Given the description of an element on the screen output the (x, y) to click on. 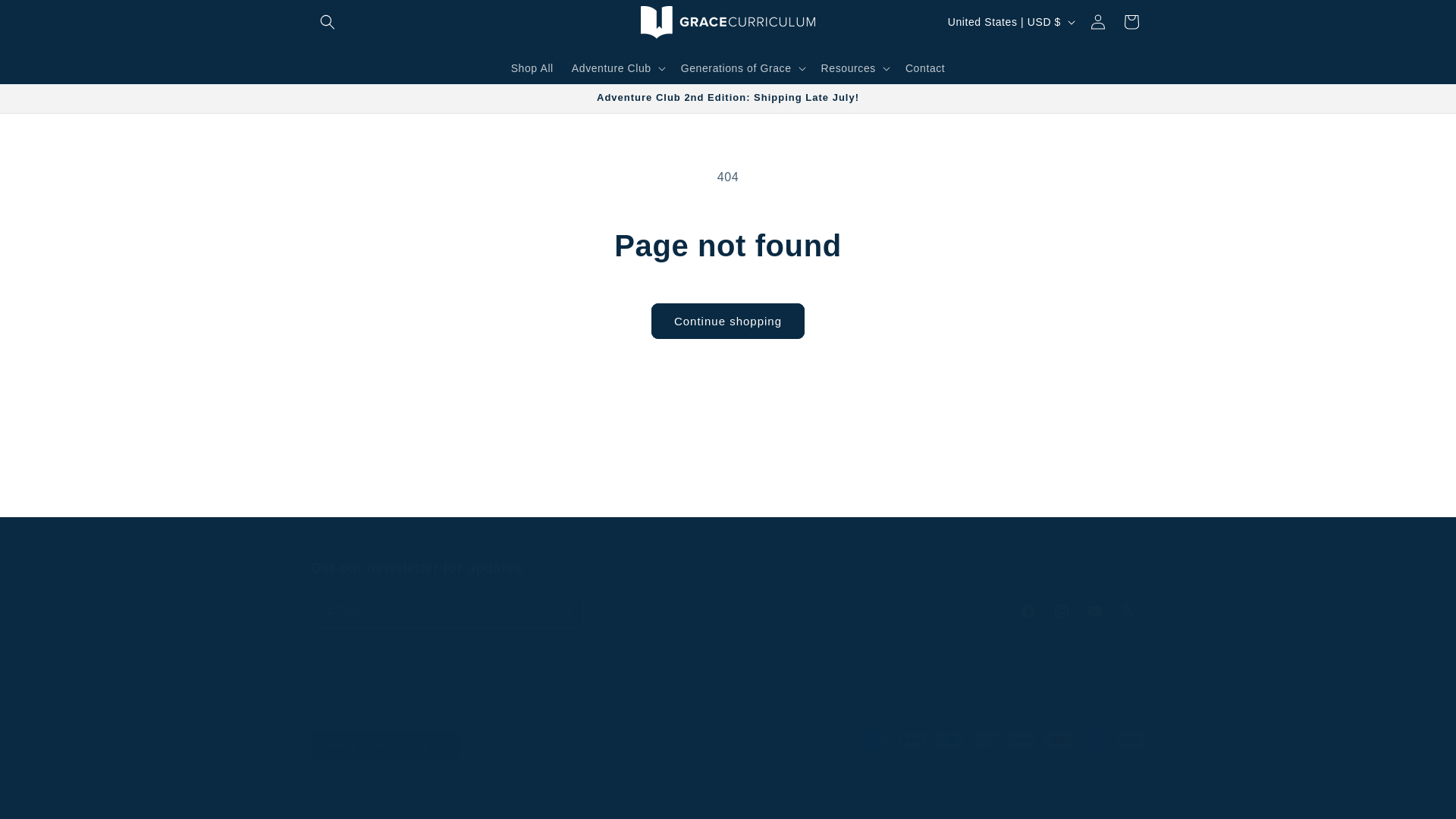
Shop All (532, 67)
Skip to content (45, 17)
